Given the description of an element on the screen output the (x, y) to click on. 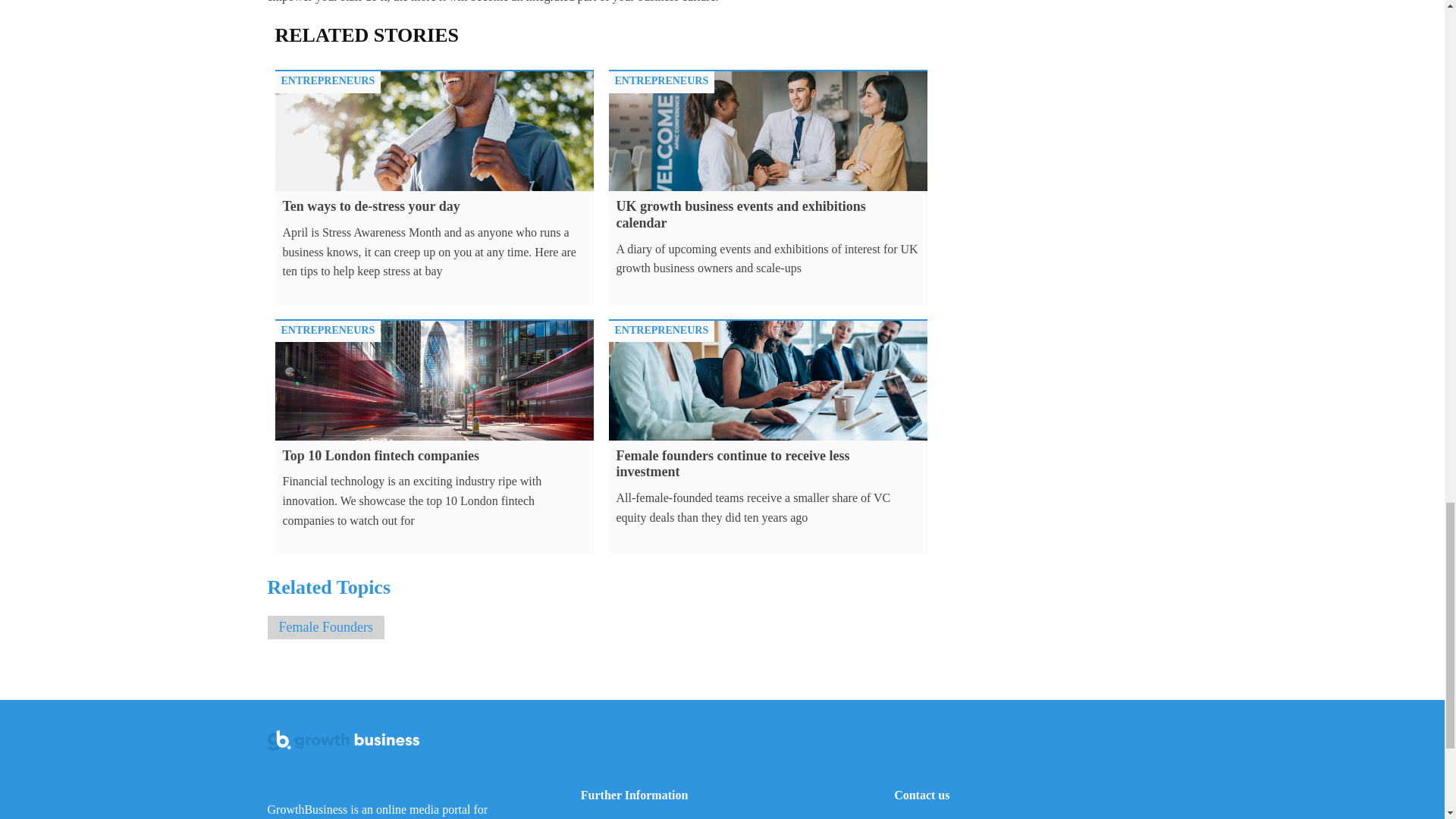
3rd party ad content (1062, 114)
